Given the description of an element on the screen output the (x, y) to click on. 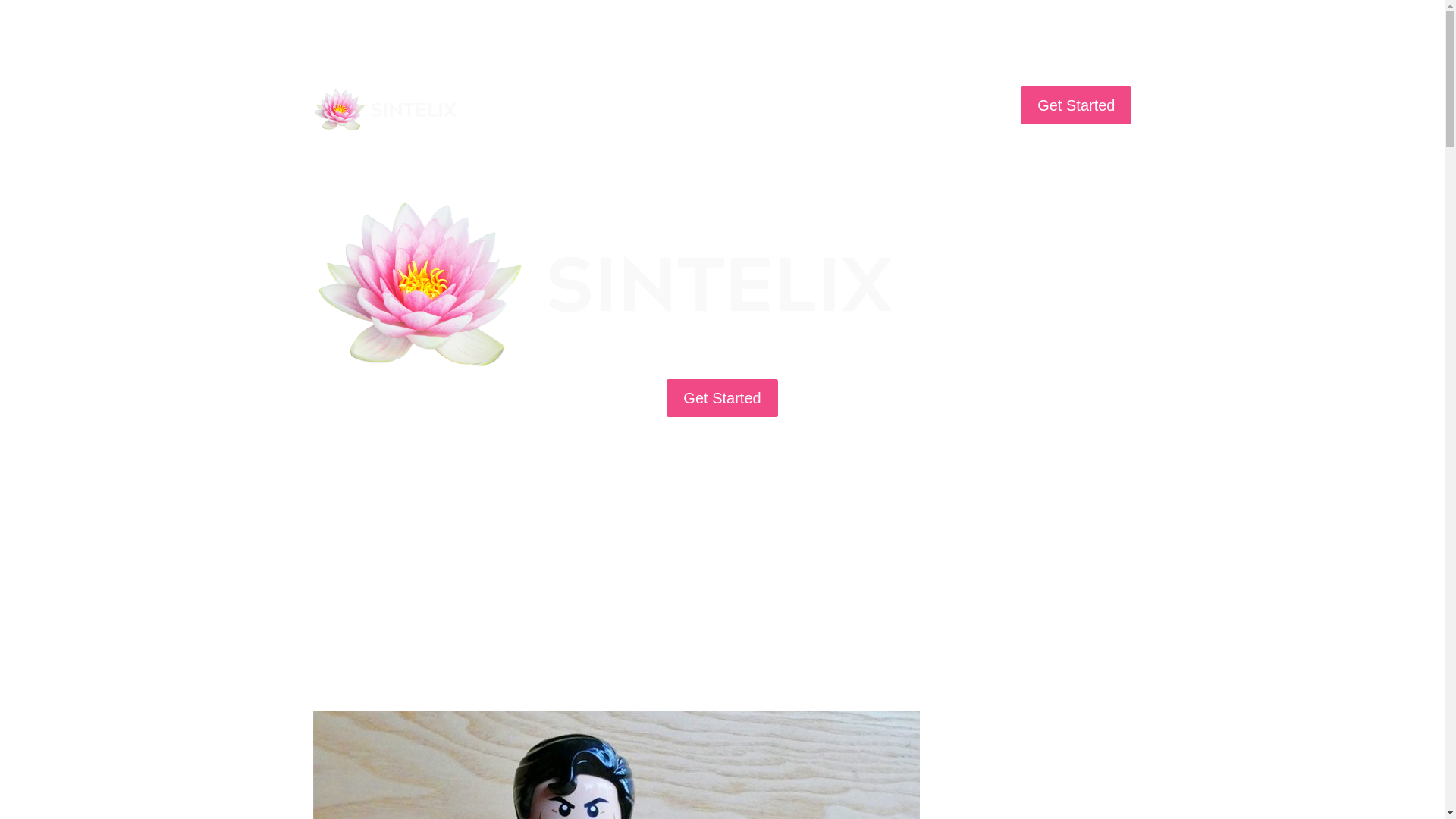
Resources (823, 100)
Pricing (757, 100)
Products (615, 765)
Solutions (546, 100)
Features (621, 100)
